Given the description of an element on the screen output the (x, y) to click on. 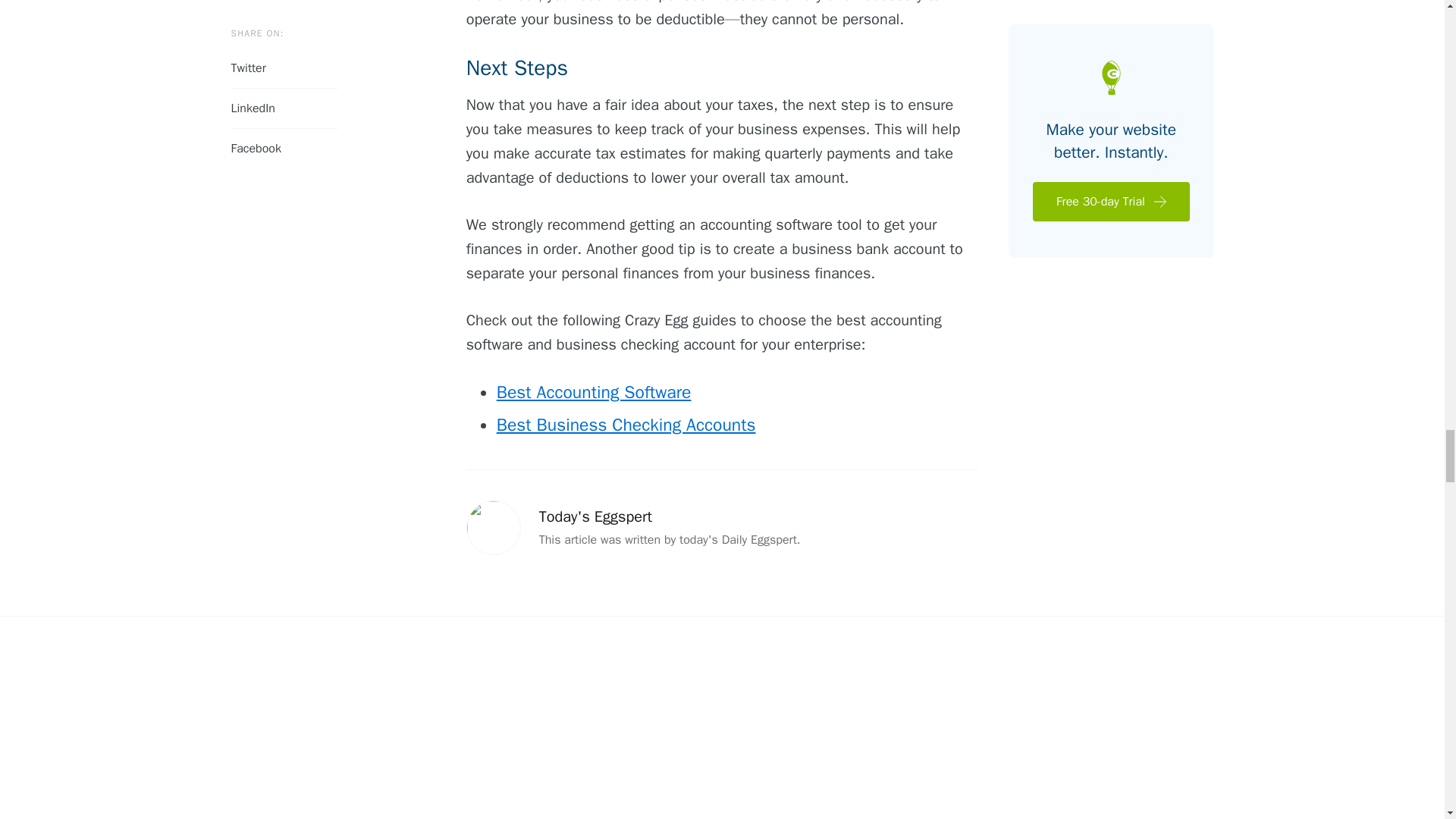
Best Business Checking Accounts (625, 424)
Best Accounting Software (593, 392)
Today's Eggspert (595, 516)
